Given the description of an element on the screen output the (x, y) to click on. 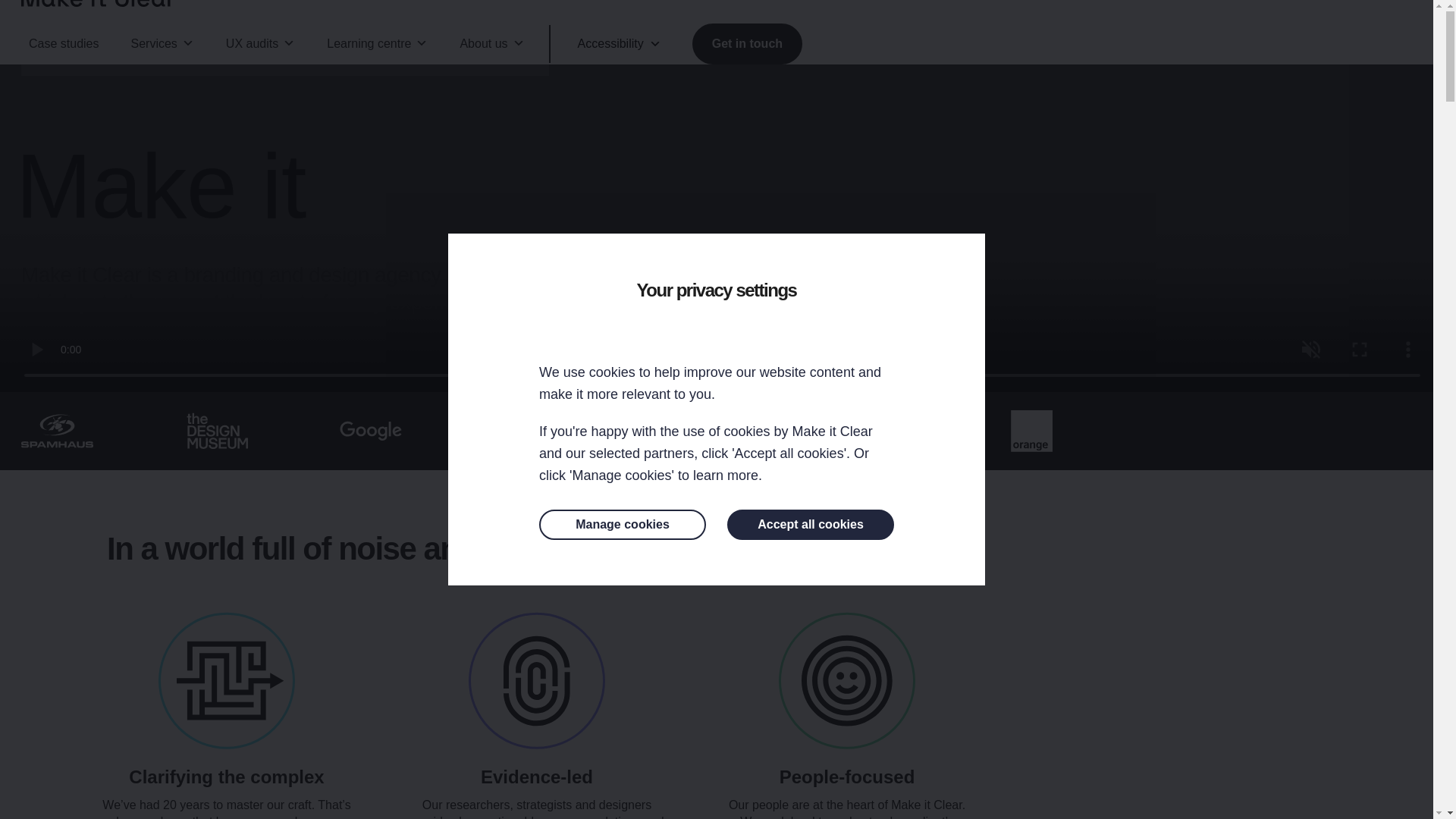
Services (161, 43)
Accept all cookies (809, 524)
Manage cookies (622, 524)
Case studies (63, 43)
